Given the description of an element on the screen output the (x, y) to click on. 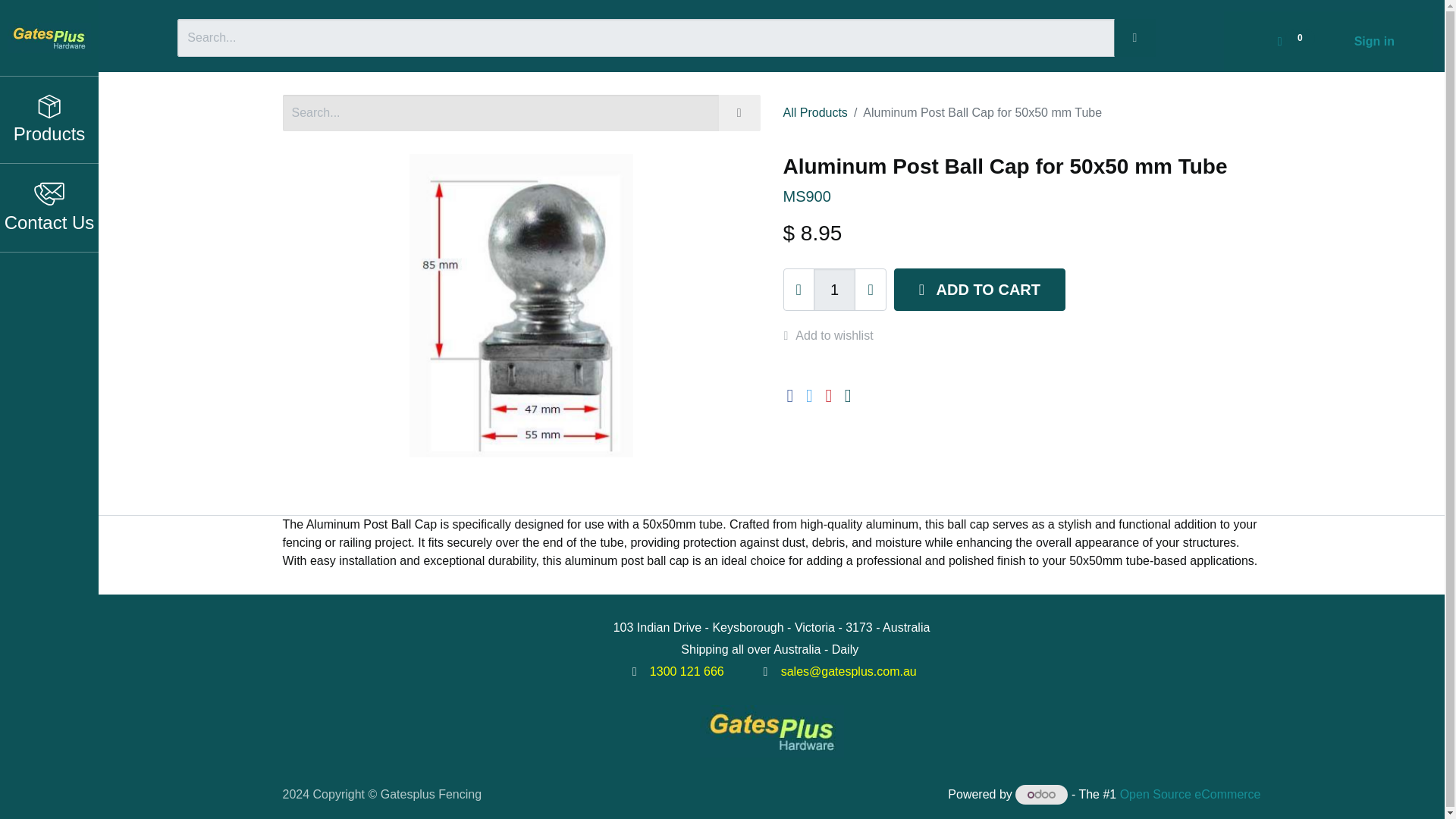
Search (738, 113)
1 (834, 289)
Add to wishlist (835, 335)
Search (1134, 37)
